Given the description of an element on the screen output the (x, y) to click on. 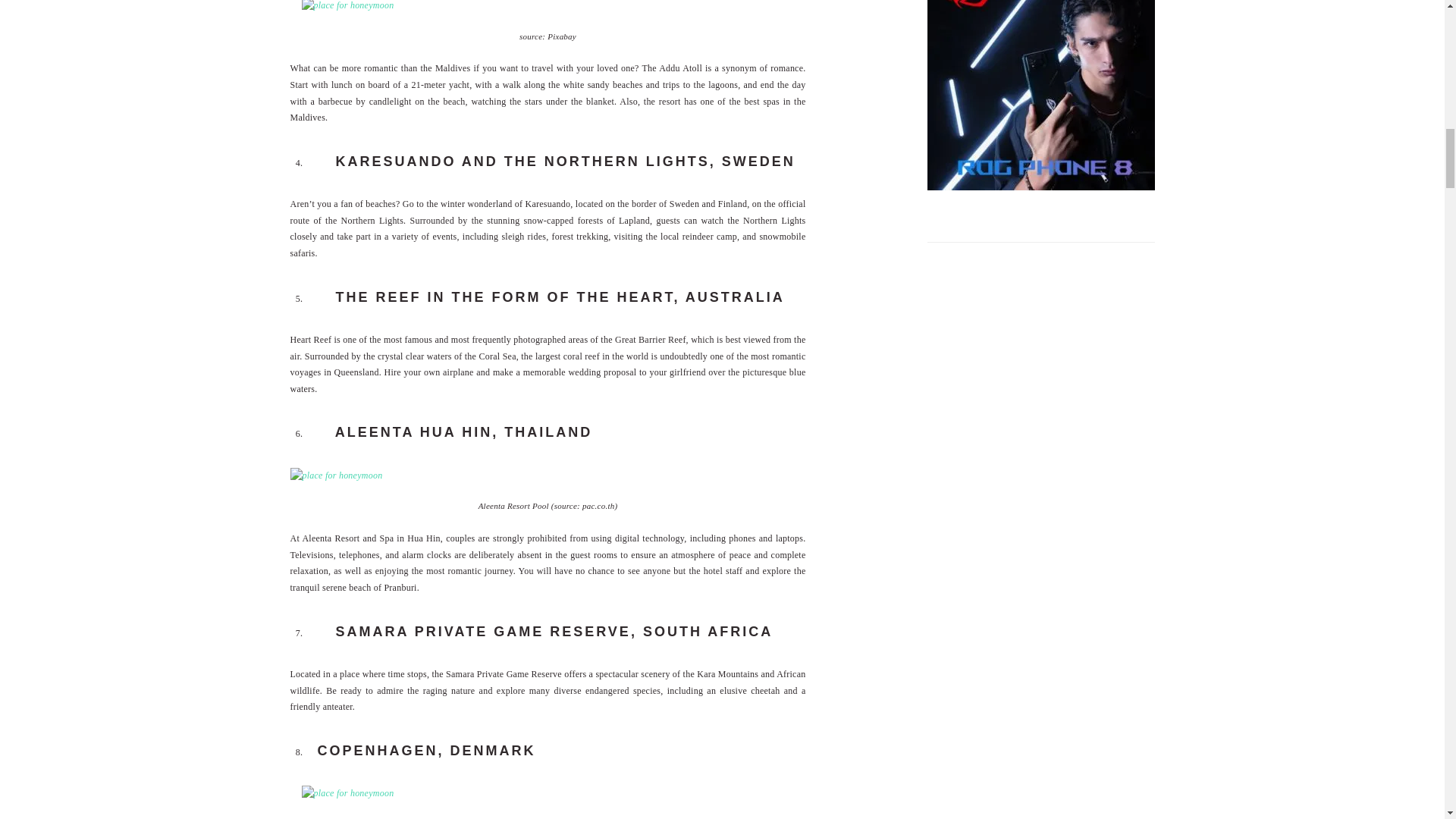
8 Best Places to Go for Your Honeymoon 5 (347, 793)
8 Best Places to Go for Your Honeymoon 4 (335, 475)
8 Best Places to Go for Your Honeymoon 3 (347, 7)
